Given the description of an element on the screen output the (x, y) to click on. 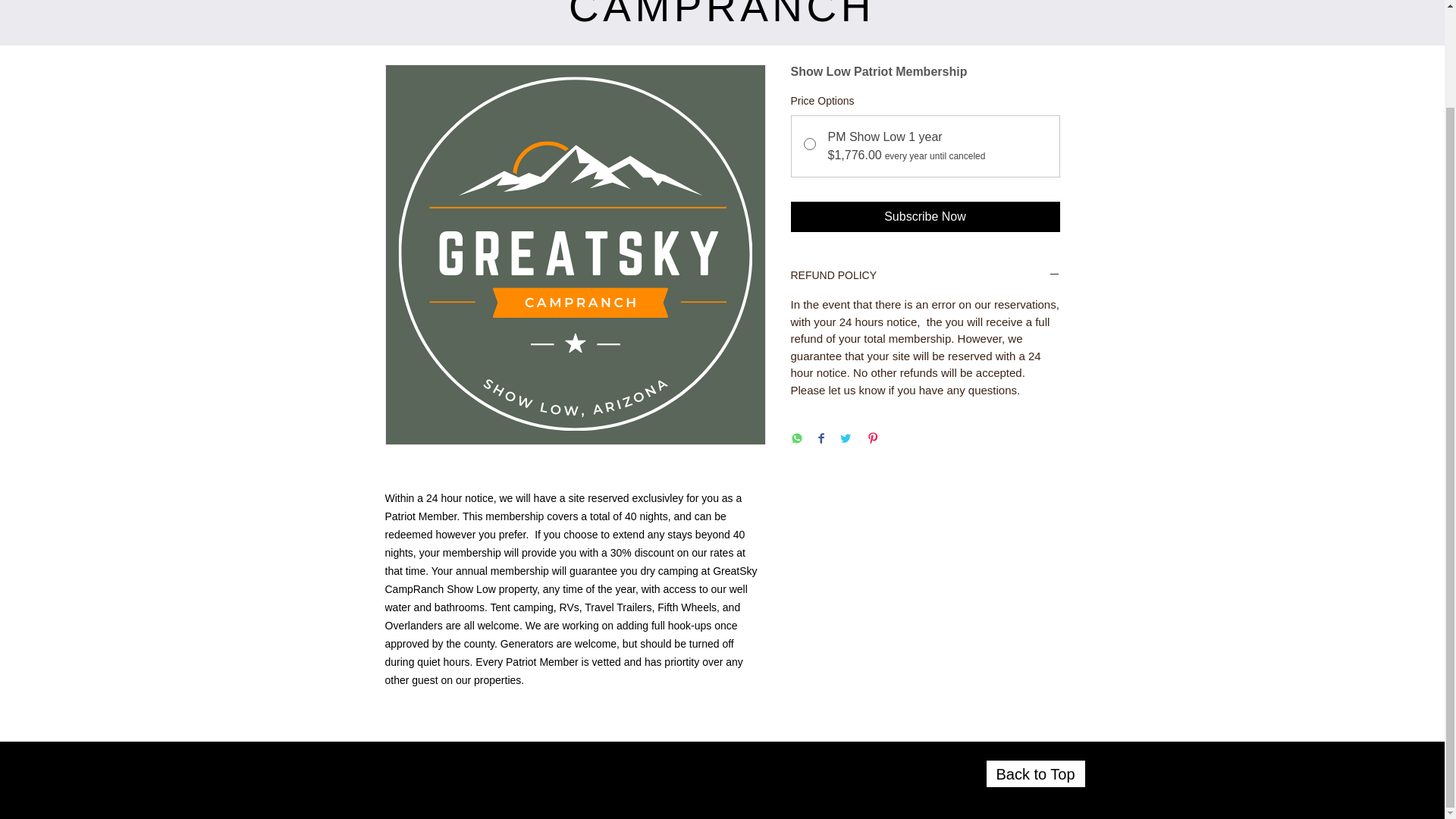
Back to Top (1034, 773)
REFUND POLICY (924, 276)
Subscribe Now (924, 216)
